Given the description of an element on the screen output the (x, y) to click on. 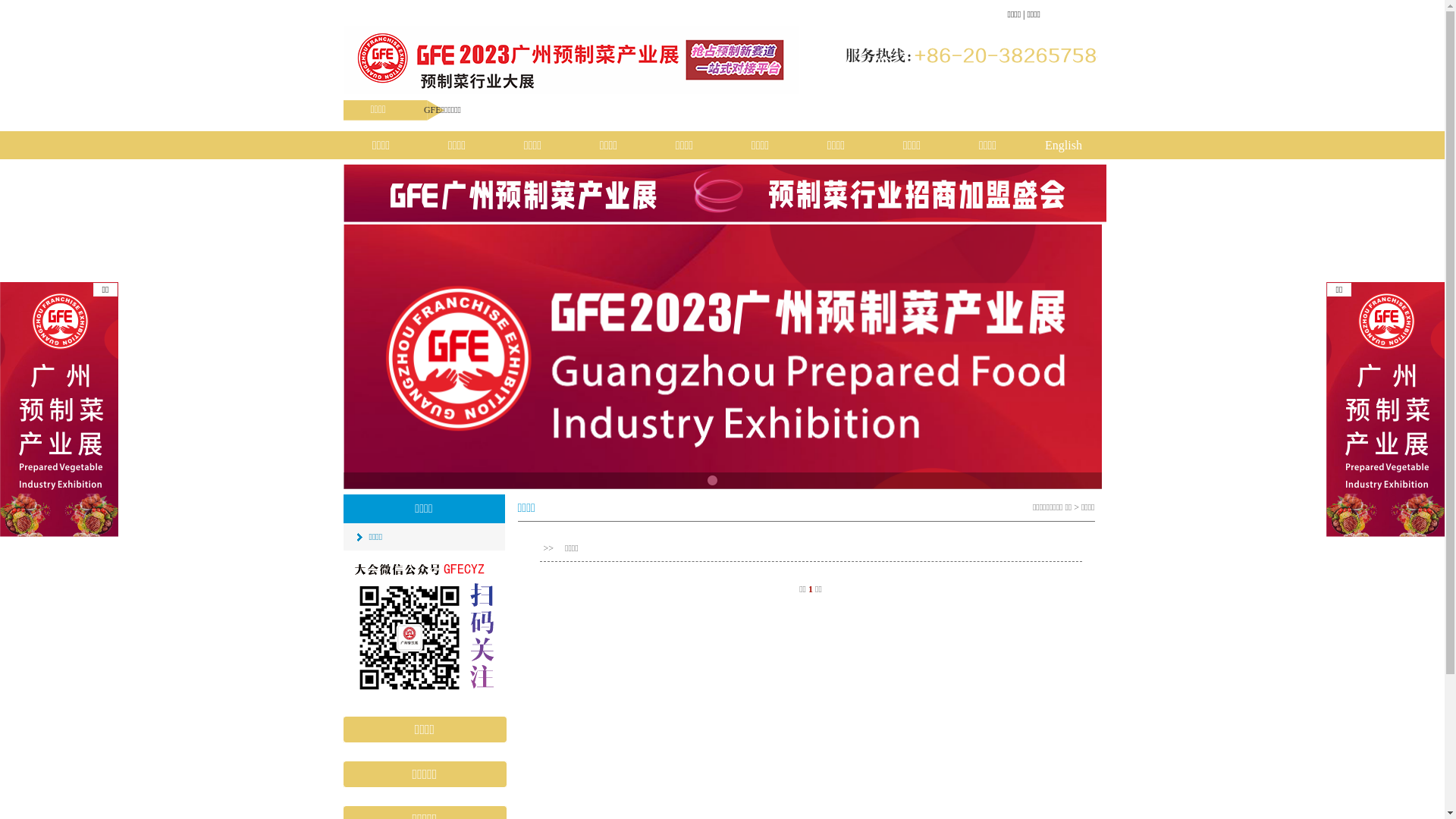
1 Element type: text (810, 588)
English Element type: text (1063, 145)
